Given the description of an element on the screen output the (x, y) to click on. 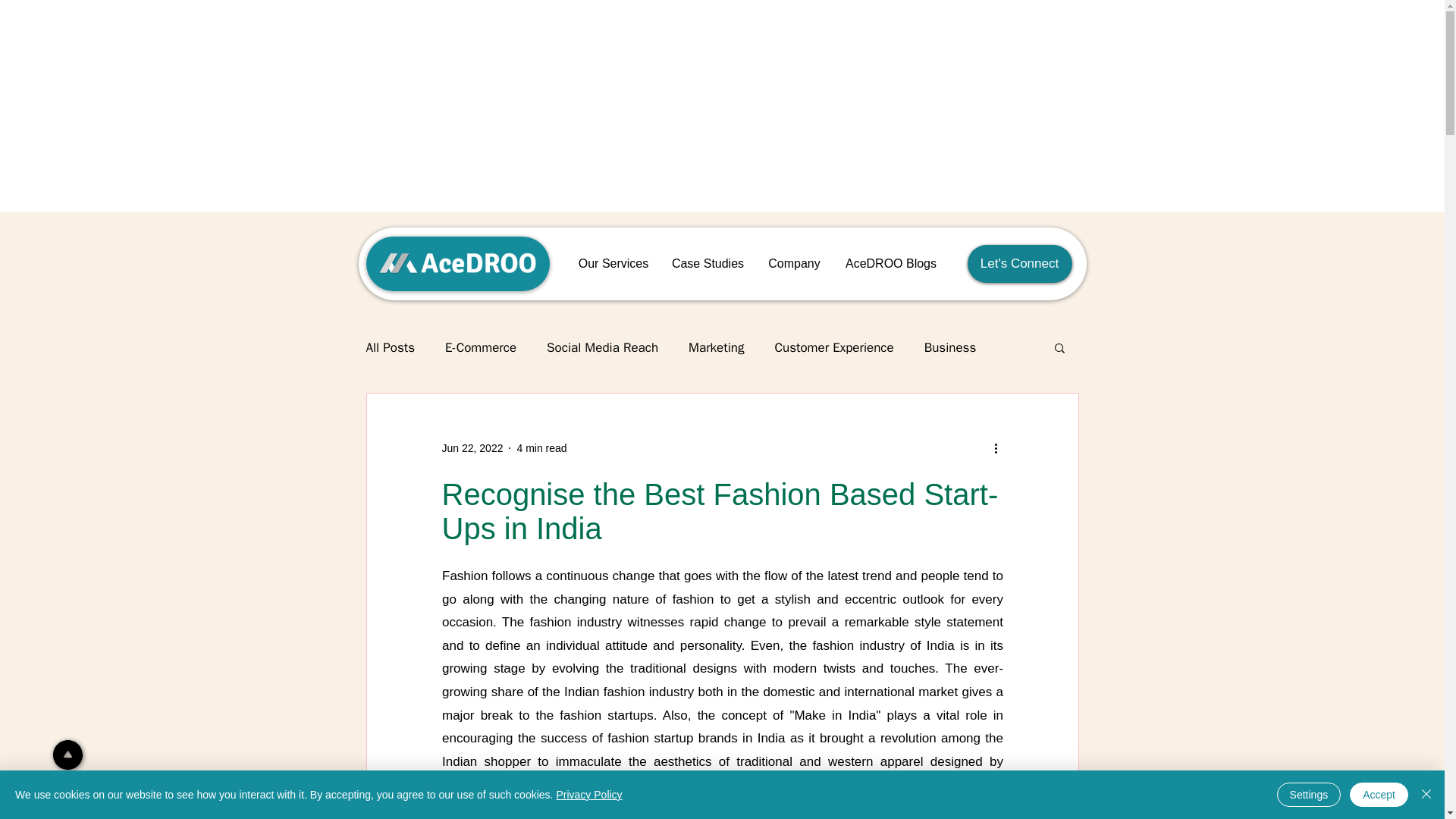
4 min read (541, 447)
Our Services (614, 263)
Marketing (716, 346)
Business (950, 346)
Case Studies (707, 263)
Jun 22, 2022 (471, 447)
E-Commerce (480, 346)
Let's Connect (1019, 263)
Customer Experience (833, 346)
